Given the description of an element on the screen output the (x, y) to click on. 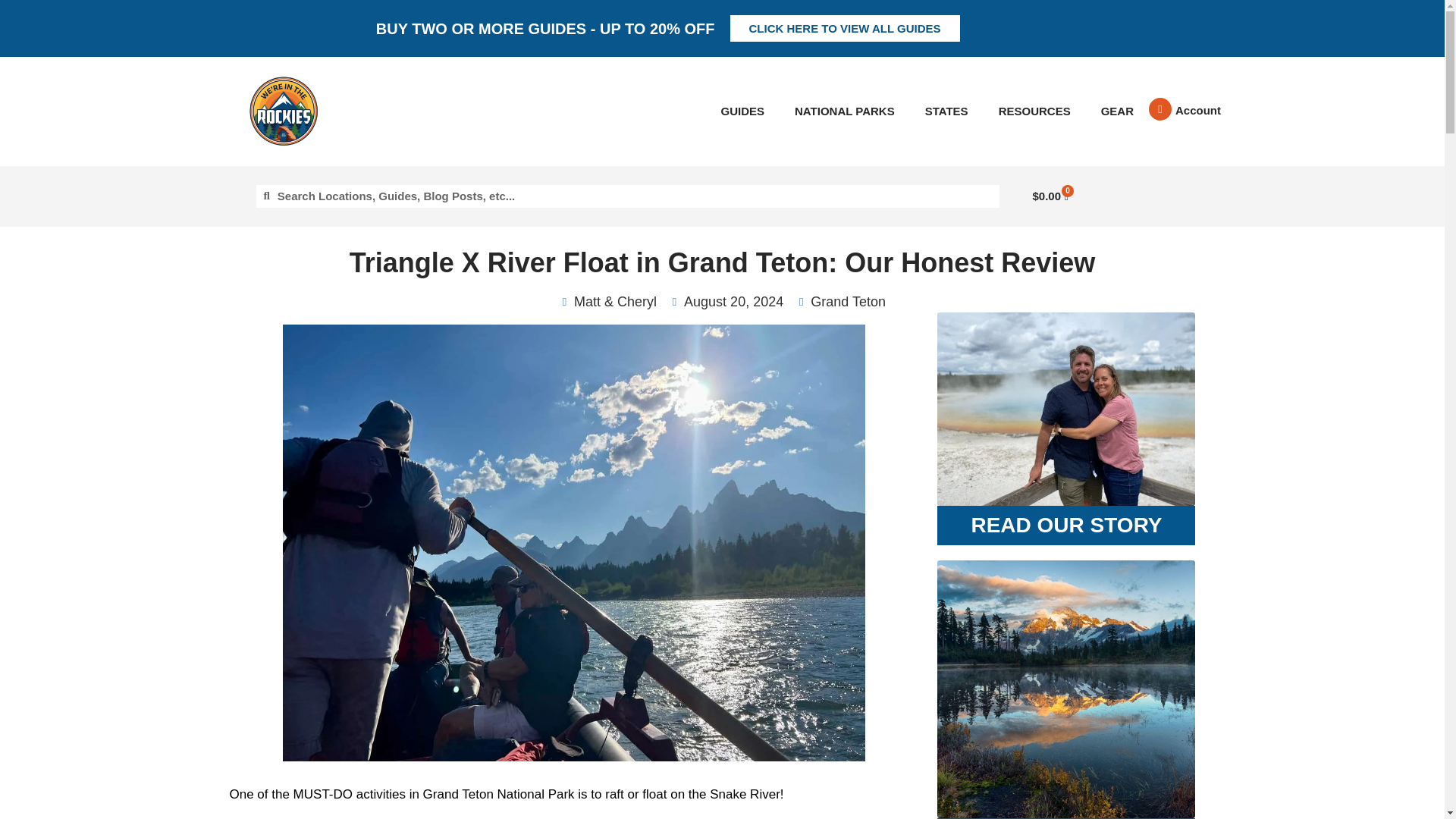
NATIONAL PARKS (844, 111)
GUIDES (741, 111)
GEAR (1117, 111)
CLICK HERE TO VIEW ALL GUIDES (844, 28)
STATES (947, 111)
RESOURCES (1035, 111)
